Given the description of an element on the screen output the (x, y) to click on. 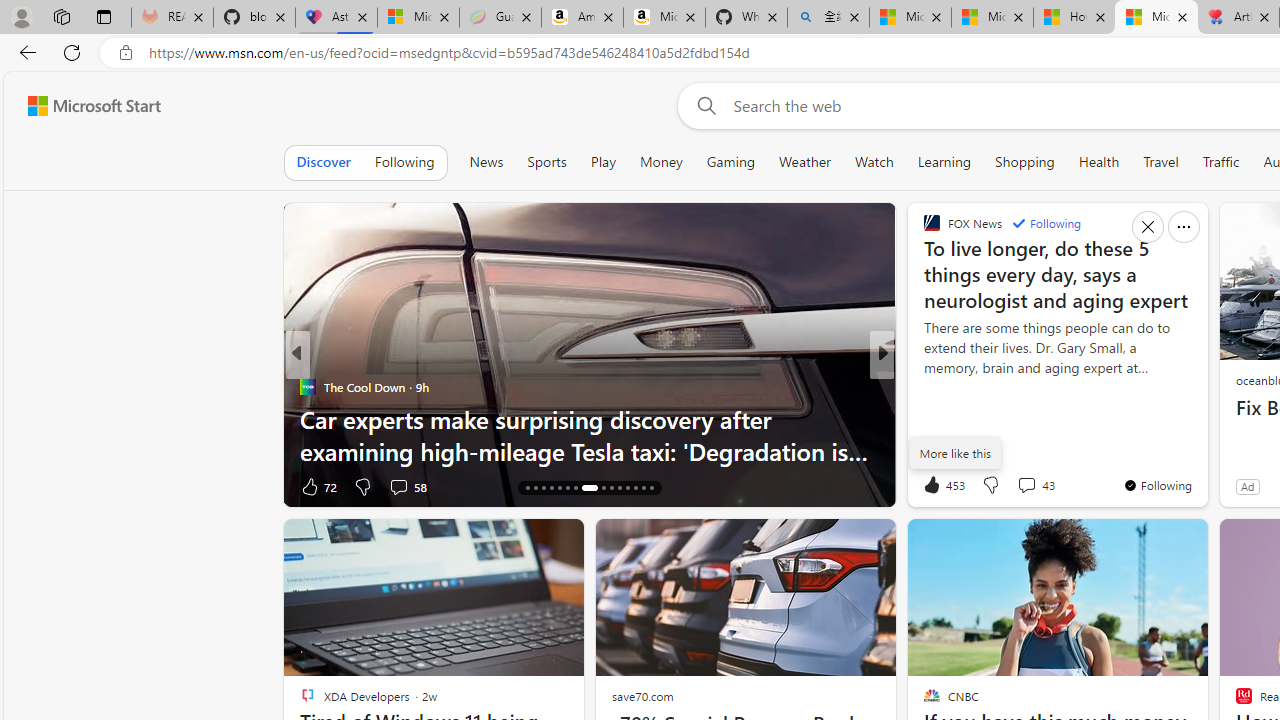
AutomationID: tab-28 (635, 487)
AutomationID: tab-21 (567, 487)
8 Like (313, 486)
View comments 7 Comment (1019, 485)
323 Like (936, 486)
AutomationID: tab-26 (619, 487)
Hide this story (1147, 542)
